Given the description of an element on the screen output the (x, y) to click on. 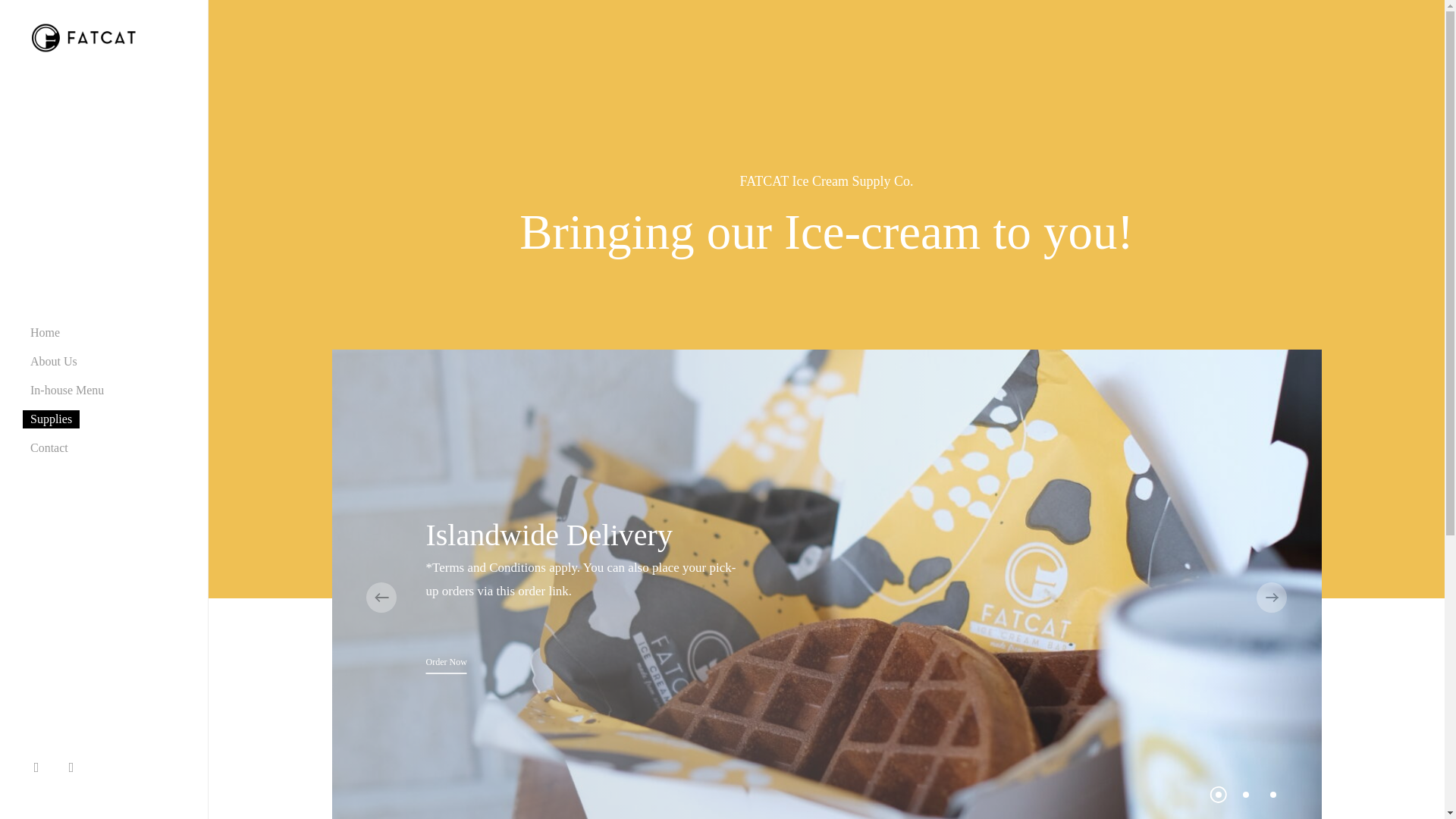
About Us (53, 361)
In-house Menu (67, 389)
Contact (49, 448)
Order Now (445, 662)
Home (44, 332)
facebook (40, 765)
Supplies (51, 419)
instagram (75, 765)
